Given the description of an element on the screen output the (x, y) to click on. 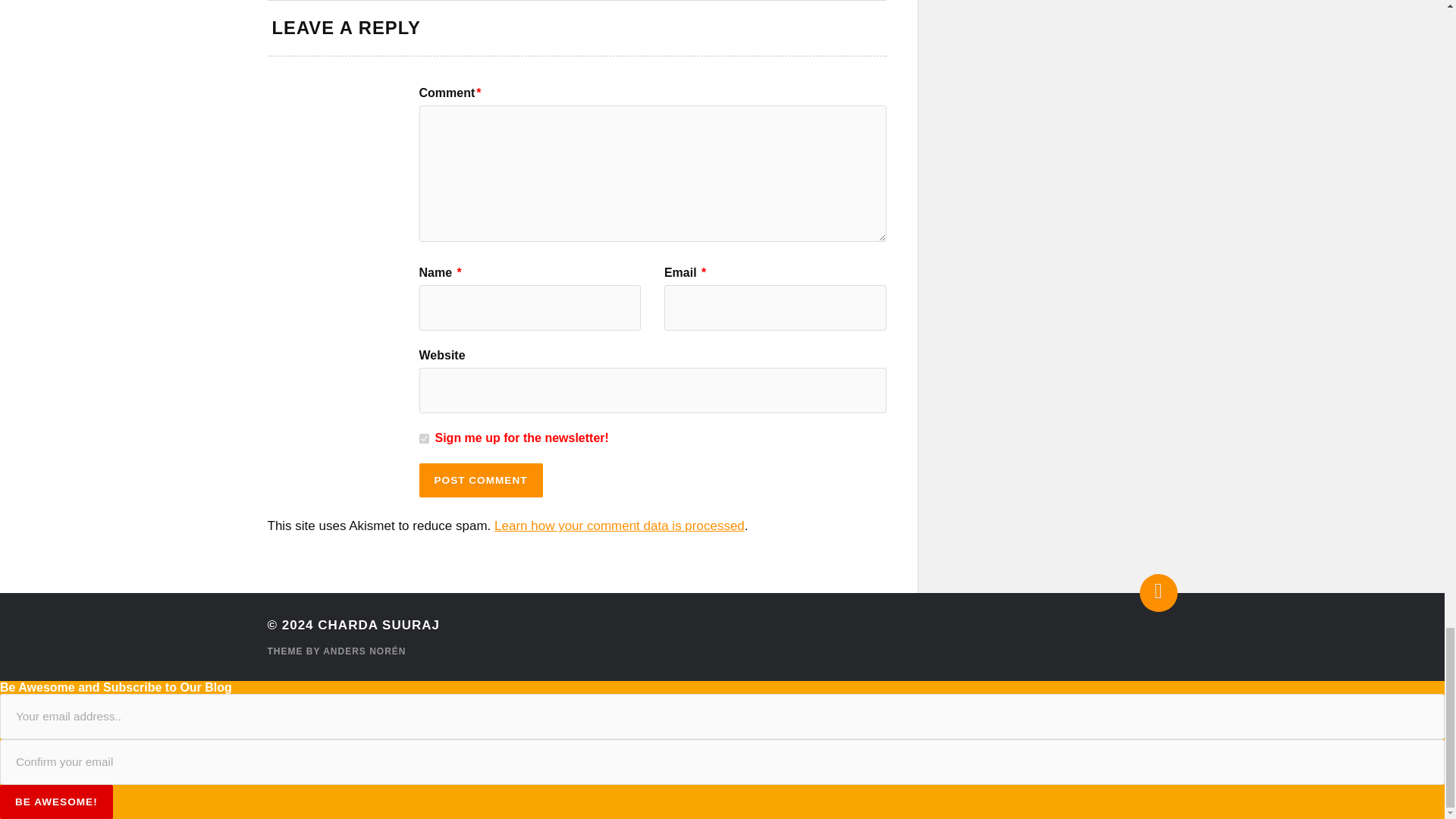
Post Comment (480, 480)
1 (423, 438)
